Given the description of an element on the screen output the (x, y) to click on. 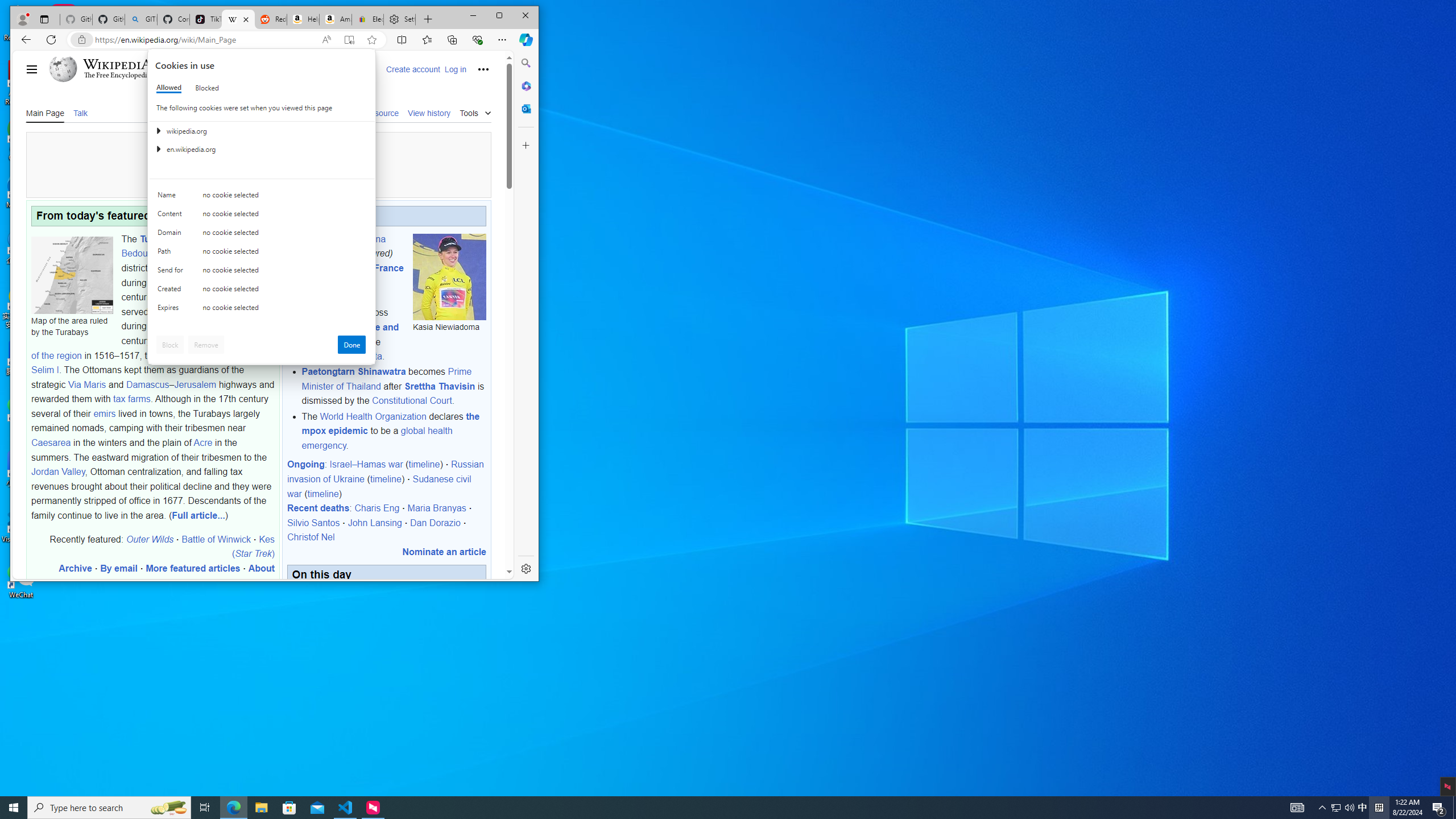
User Promoted Notification Area (1342, 807)
Allowed (169, 87)
Q2790: 100% (1349, 807)
AutomationID: 4105 (1297, 807)
Path (172, 253)
